Given the description of an element on the screen output the (x, y) to click on. 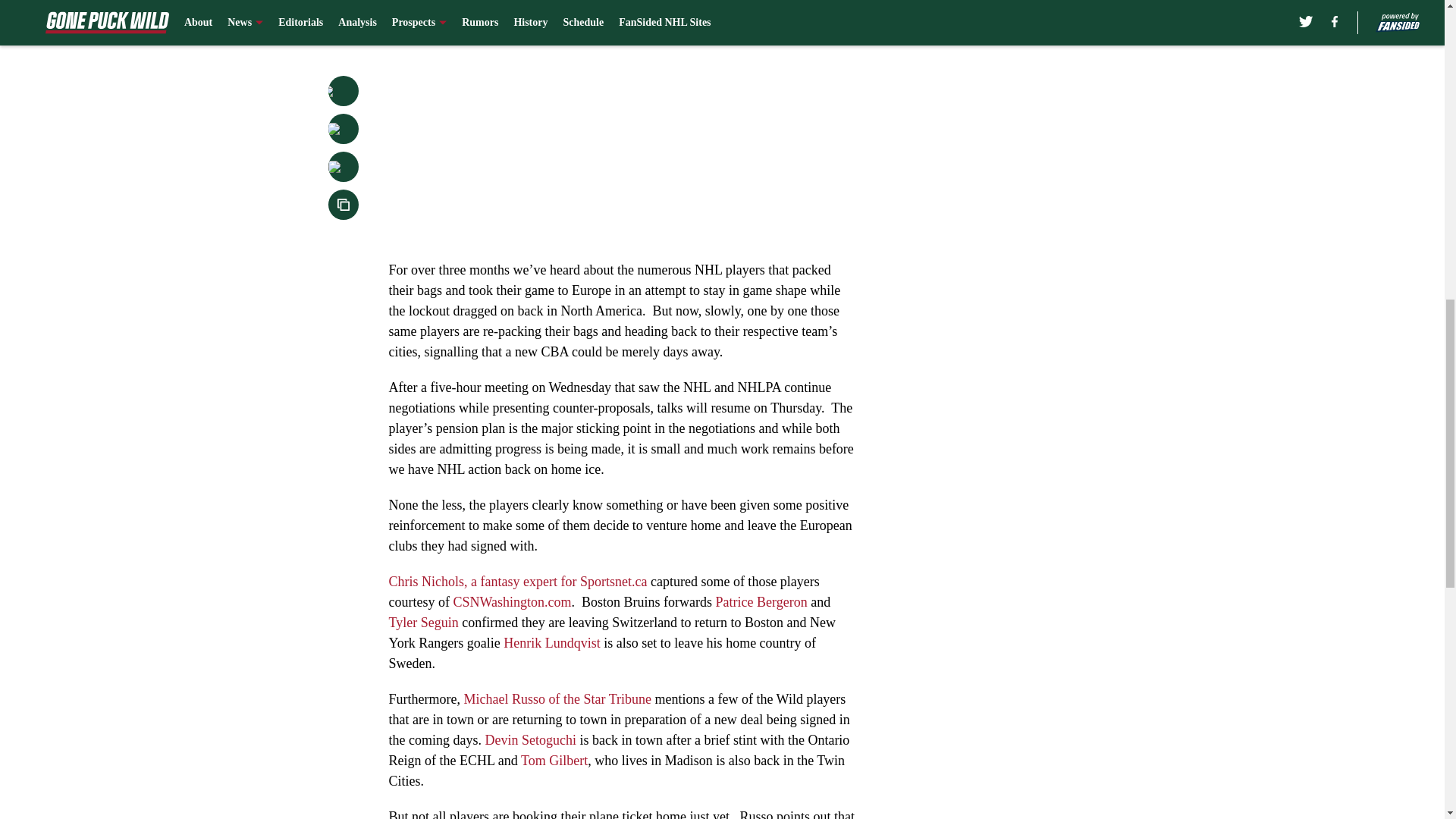
Tom Gilbert (554, 760)
Tyler Seguin (423, 622)
Patrice Bergeron (762, 601)
Michael Russo of the Star Tribune (556, 698)
Devin Setoguchi (529, 739)
Henrik Lundqvist (551, 642)
CSNWashington.com (511, 601)
Chris Nichols, a fantasy expert for Sportsnet.ca (517, 581)
